Given the description of an element on the screen output the (x, y) to click on. 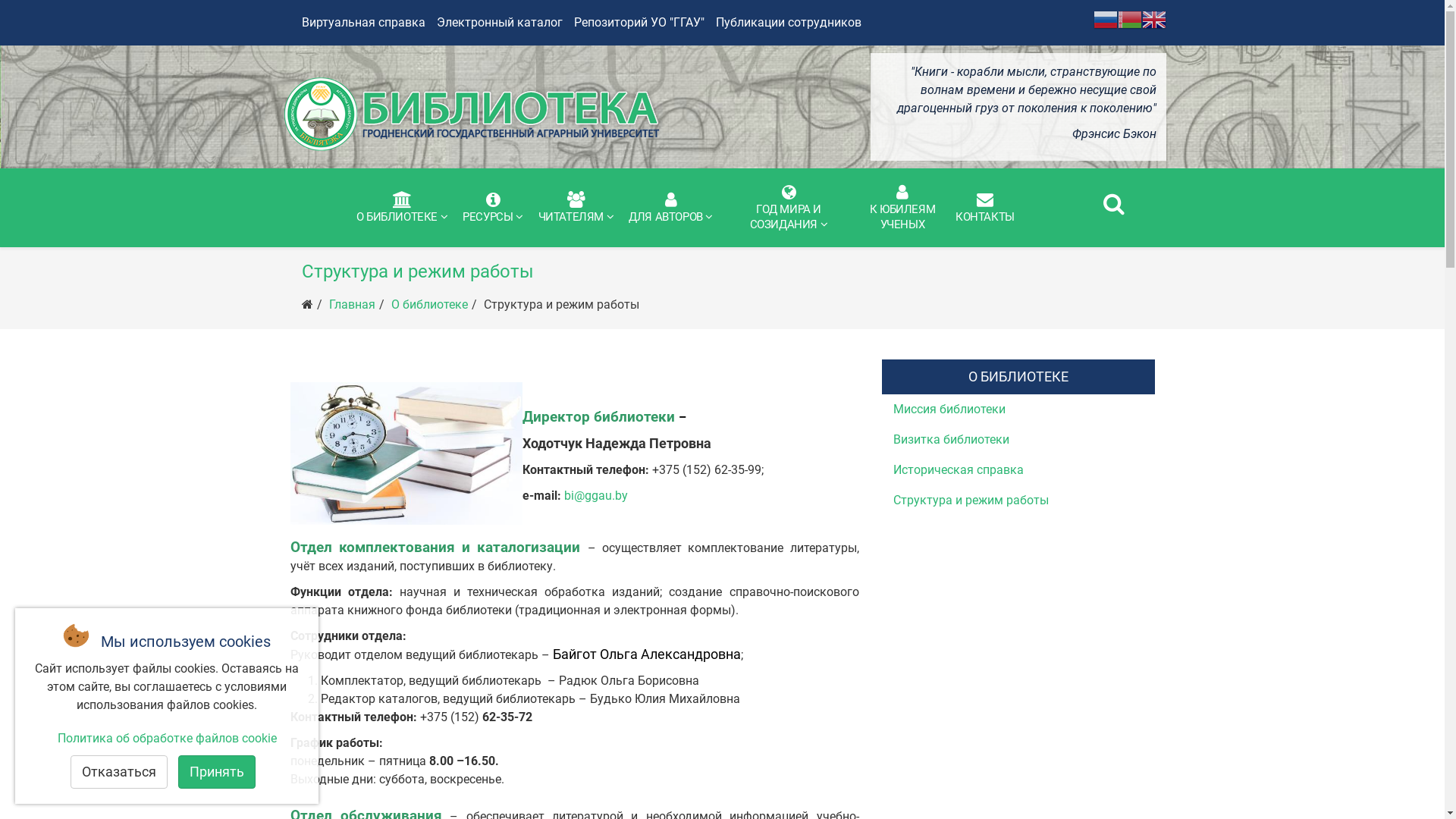
bi@ggau.by Element type: text (595, 495)
Belarusian Element type: hover (1129, 18)
English Element type: hover (1154, 18)
Russian Element type: hover (1105, 18)
